Given the description of an element on the screen output the (x, y) to click on. 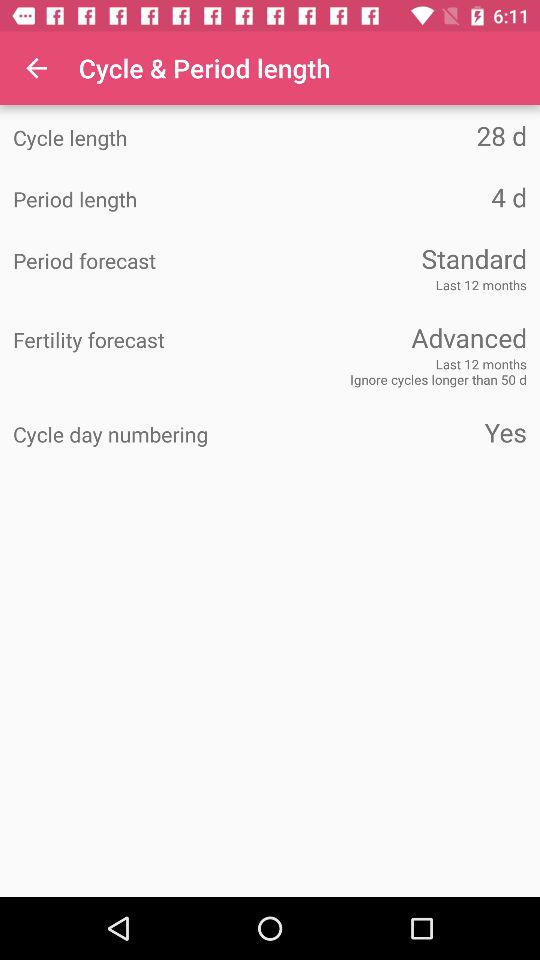
turn on the item next to cycle day numbering item (398, 432)
